Given the description of an element on the screen output the (x, y) to click on. 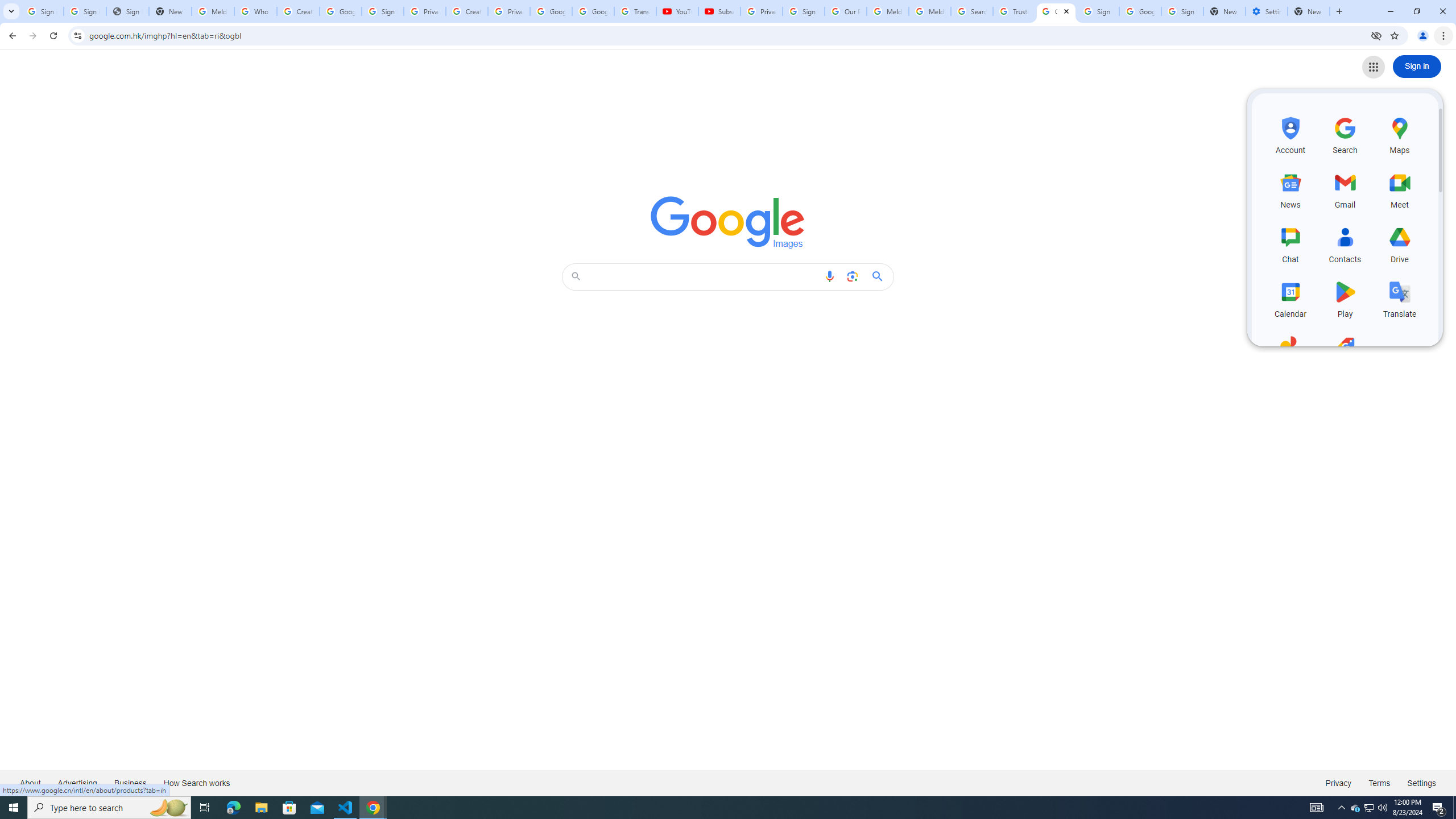
Create your Google Account (298, 11)
Sign in - Google Accounts (85, 11)
Photos, row 5 of 5 and column 1 of 3 in the first section (1290, 352)
Play, row 4 of 5 and column 2 of 3 in the first section (1344, 297)
How Search works (196, 782)
Google Images (1055, 11)
Chat, row 3 of 5 and column 1 of 3 in the first section (1290, 242)
Settings (1421, 782)
